Given the description of an element on the screen output the (x, y) to click on. 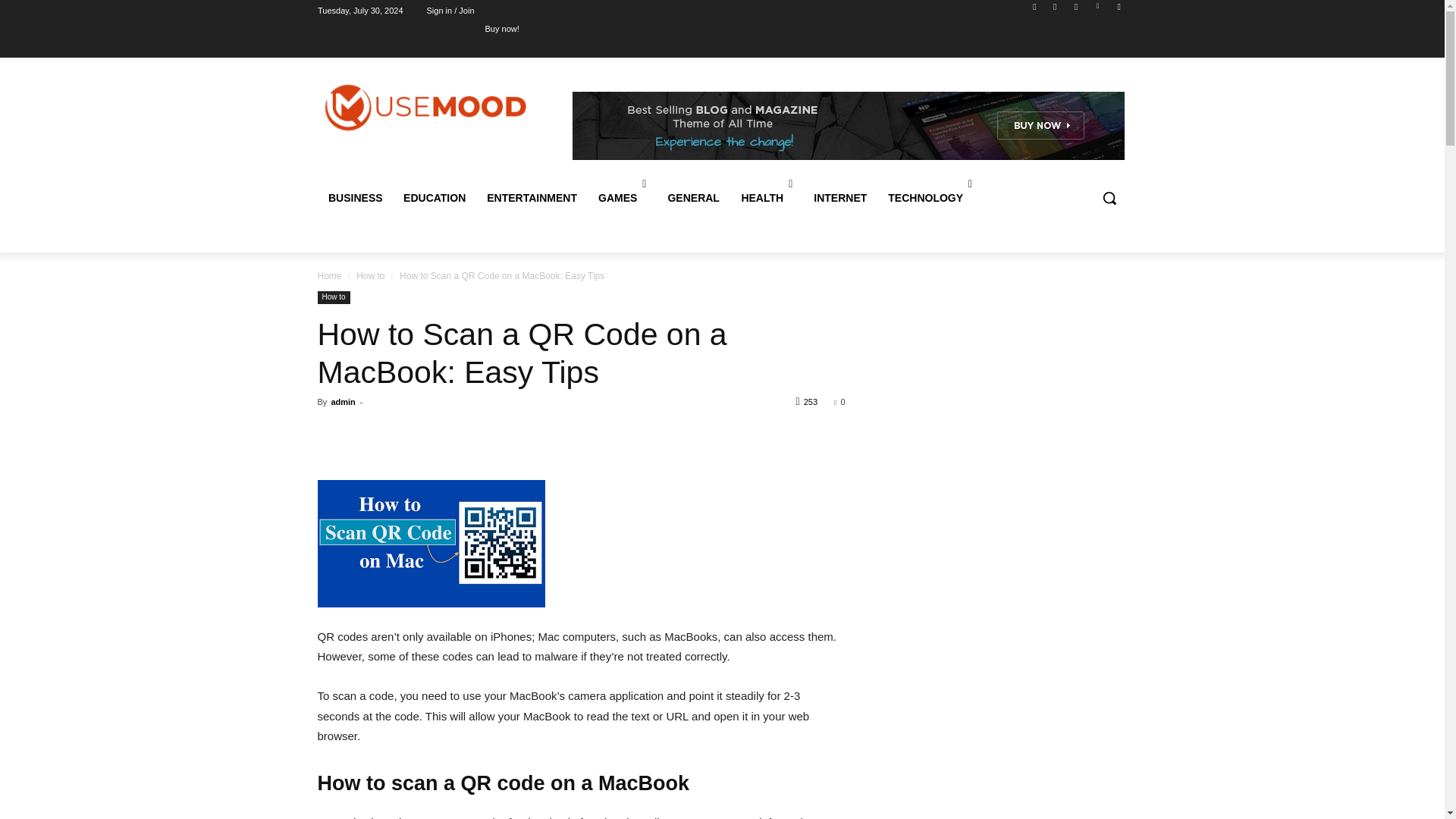
Buy now! (501, 28)
EDUCATION (434, 197)
ENTERTAINMENT (532, 197)
GAMES (622, 197)
BUSINESS (355, 197)
Twitter (1075, 9)
Facebook (1034, 9)
Instagram (1055, 9)
GENERAL (692, 197)
Vimeo (1097, 9)
Youtube (1117, 9)
